Given the description of an element on the screen output the (x, y) to click on. 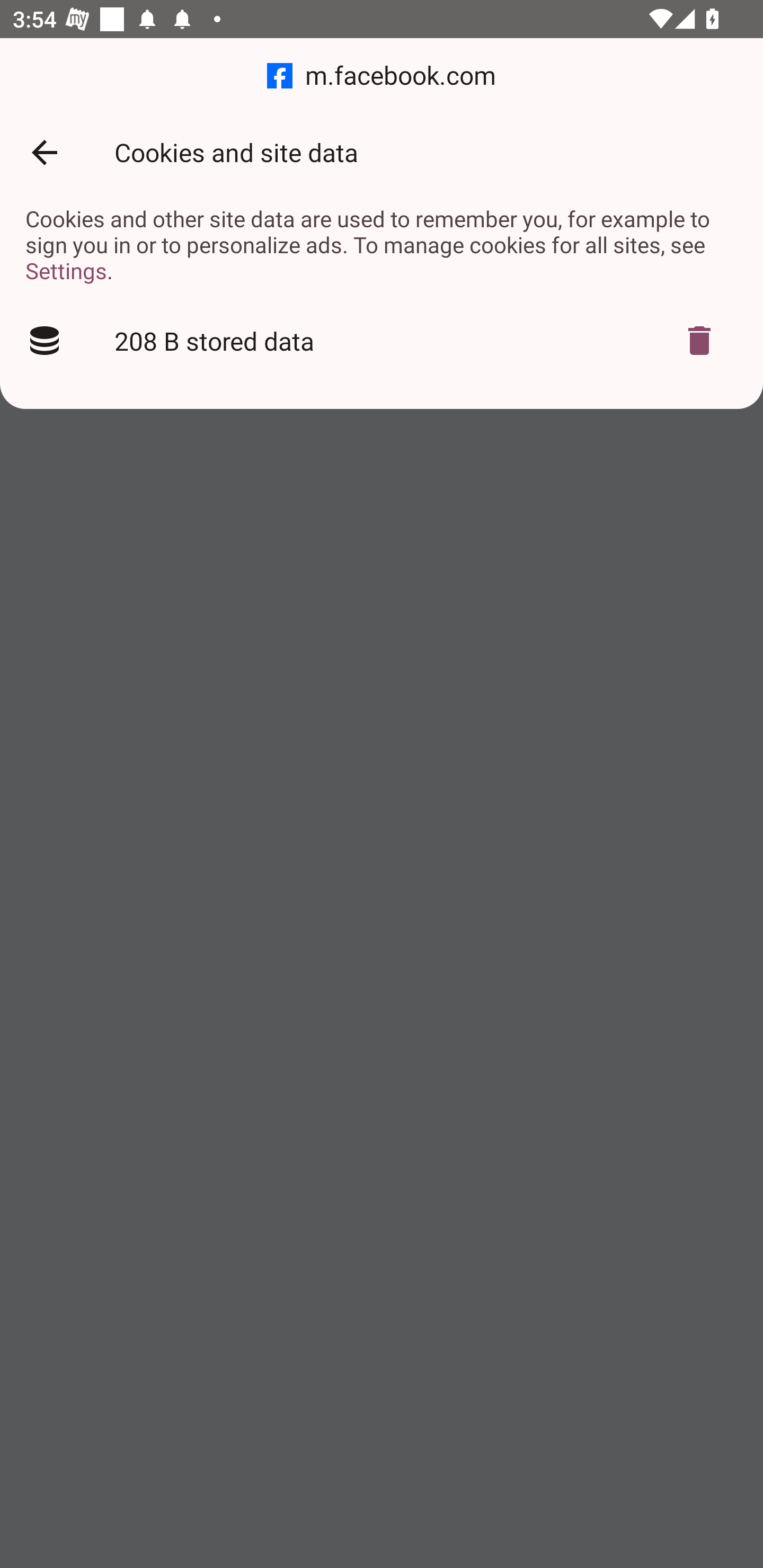
m.facebook.com (381, 75)
Back (44, 152)
208 B stored data Delete cookies? (381, 340)
